Given the description of an element on the screen output the (x, y) to click on. 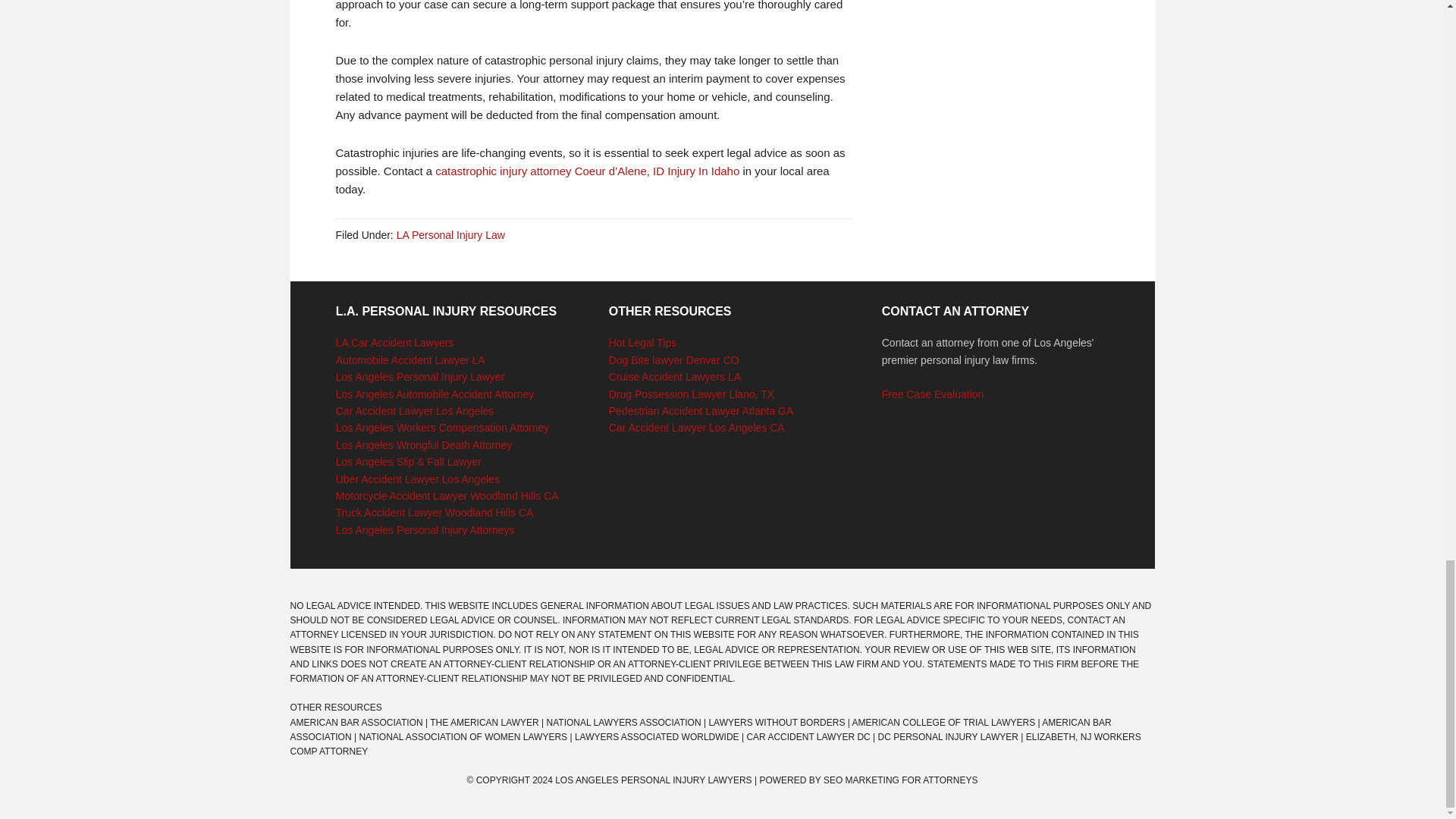
Automobile Accident Lawyer LA (410, 359)
Uber Accident Lawyer Los Angeles (417, 479)
LA Car Accident Lawyers (395, 342)
Los Angeles Workers Compensation Attorney (442, 427)
LA Personal Injury Law (450, 234)
Los Angeles Wrongful Death Attorney (424, 444)
Los Angeles Automobile Accident Attorney (435, 394)
Los Angeles Personal Injury Lawyer (420, 377)
Car Accident Lawyer Los Angeles (415, 410)
Motorcycle Accident Lawyer Woodland Hills CA (447, 495)
